Given the description of an element on the screen output the (x, y) to click on. 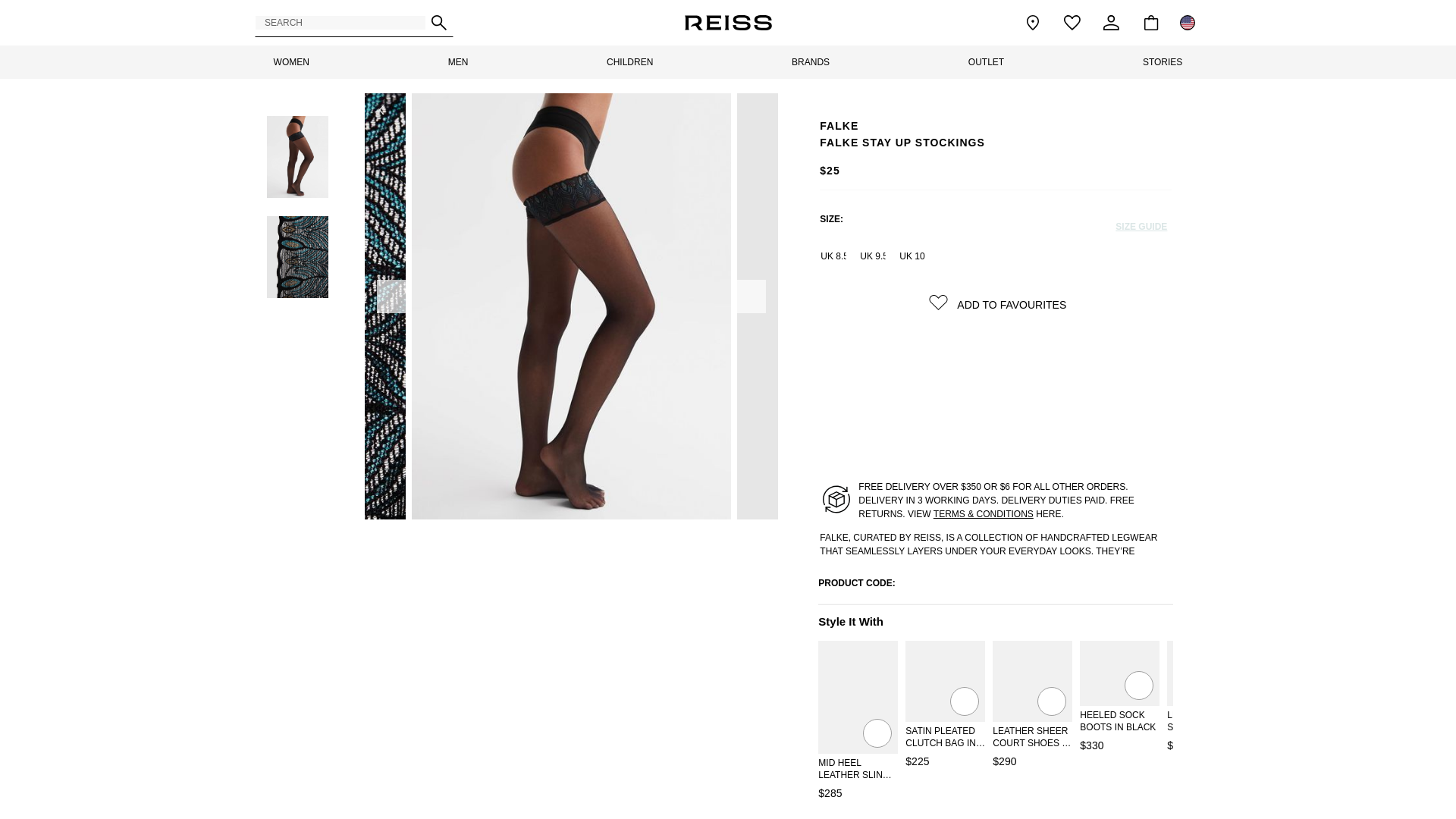
STORIES (1162, 61)
WOMEN (291, 61)
SIZE GUIDE (1141, 220)
BRANDS (810, 61)
CHILDREN (629, 61)
UK 9.5-10 (872, 256)
WOMEN (291, 61)
UK 10.5 - 11 (911, 256)
Style It With (995, 621)
CHILDREN (629, 61)
